Given the description of an element on the screen output the (x, y) to click on. 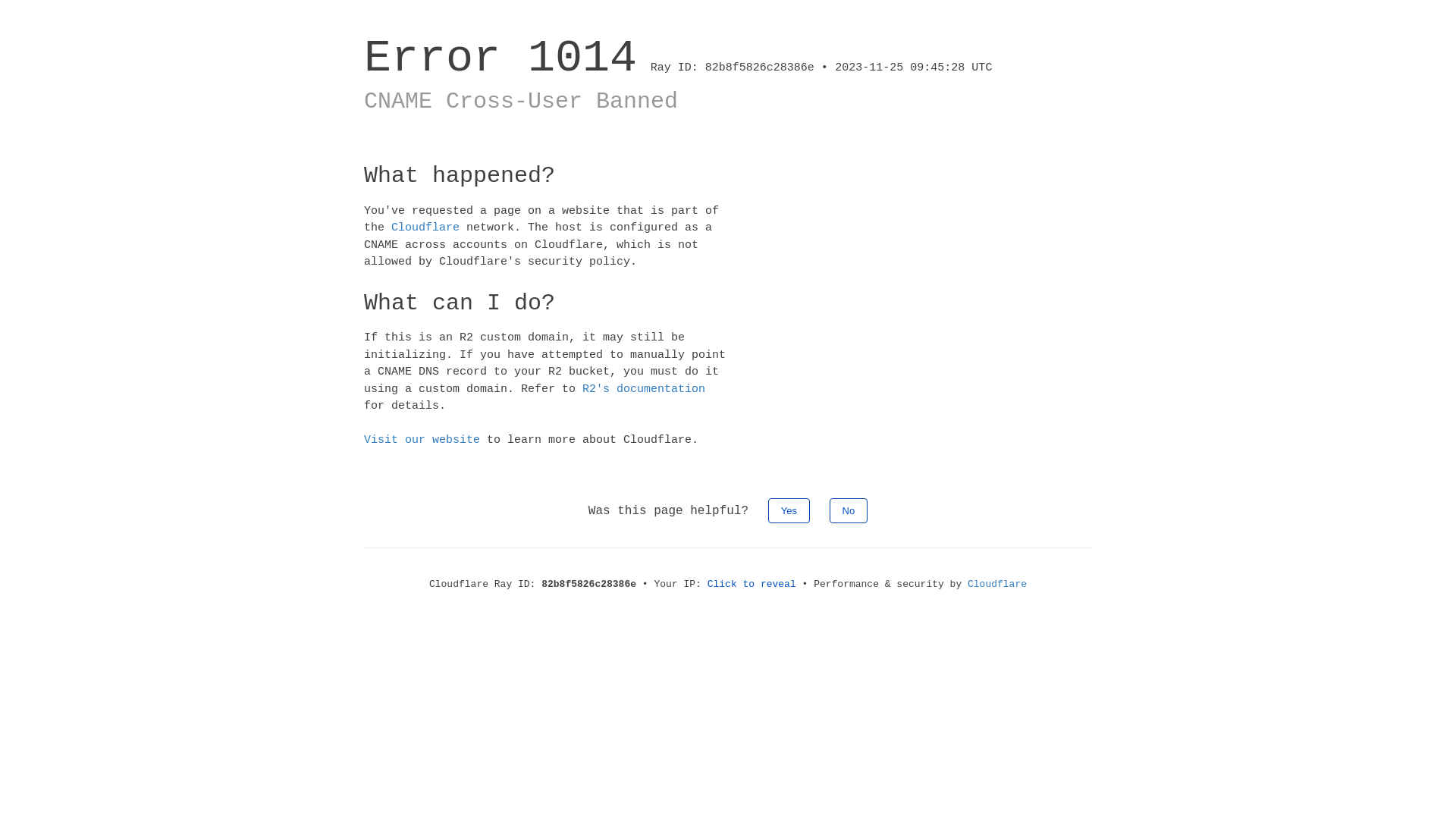
Yes Element type: text (788, 509)
Visit our website Element type: text (422, 439)
R2's documentation Element type: text (643, 388)
Cloudflare Element type: text (996, 583)
No Element type: text (848, 509)
Cloudflare Element type: text (425, 227)
Click to reveal Element type: text (751, 583)
